Given the description of an element on the screen output the (x, y) to click on. 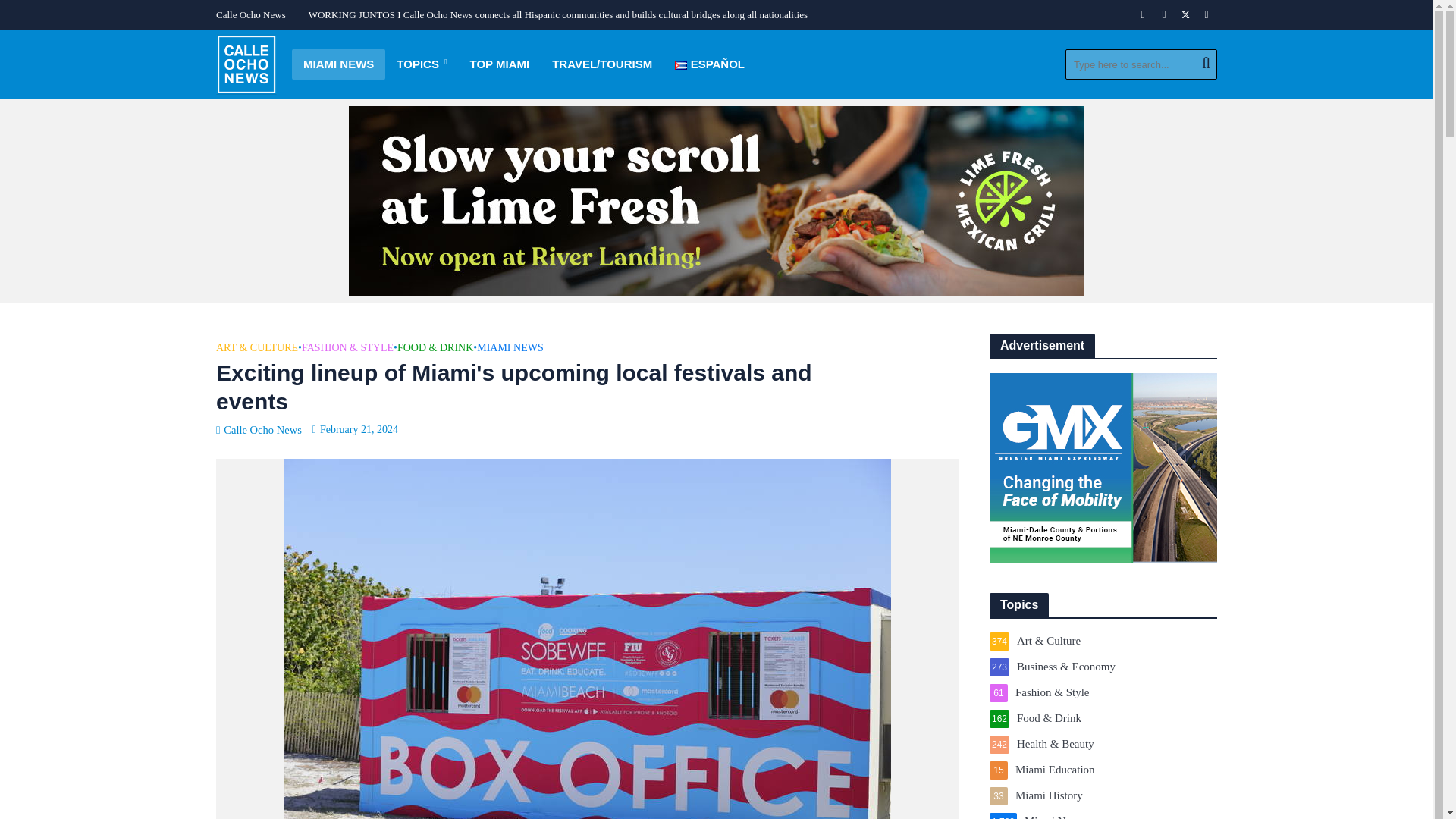
Instagram (1163, 14)
Youtube (1206, 14)
TOPICS (421, 64)
Calle Ocho News (254, 15)
Twitter (1184, 14)
MIAMI NEWS (338, 64)
TOP MIAMI (499, 64)
Facebook (1142, 14)
